Given the description of an element on the screen output the (x, y) to click on. 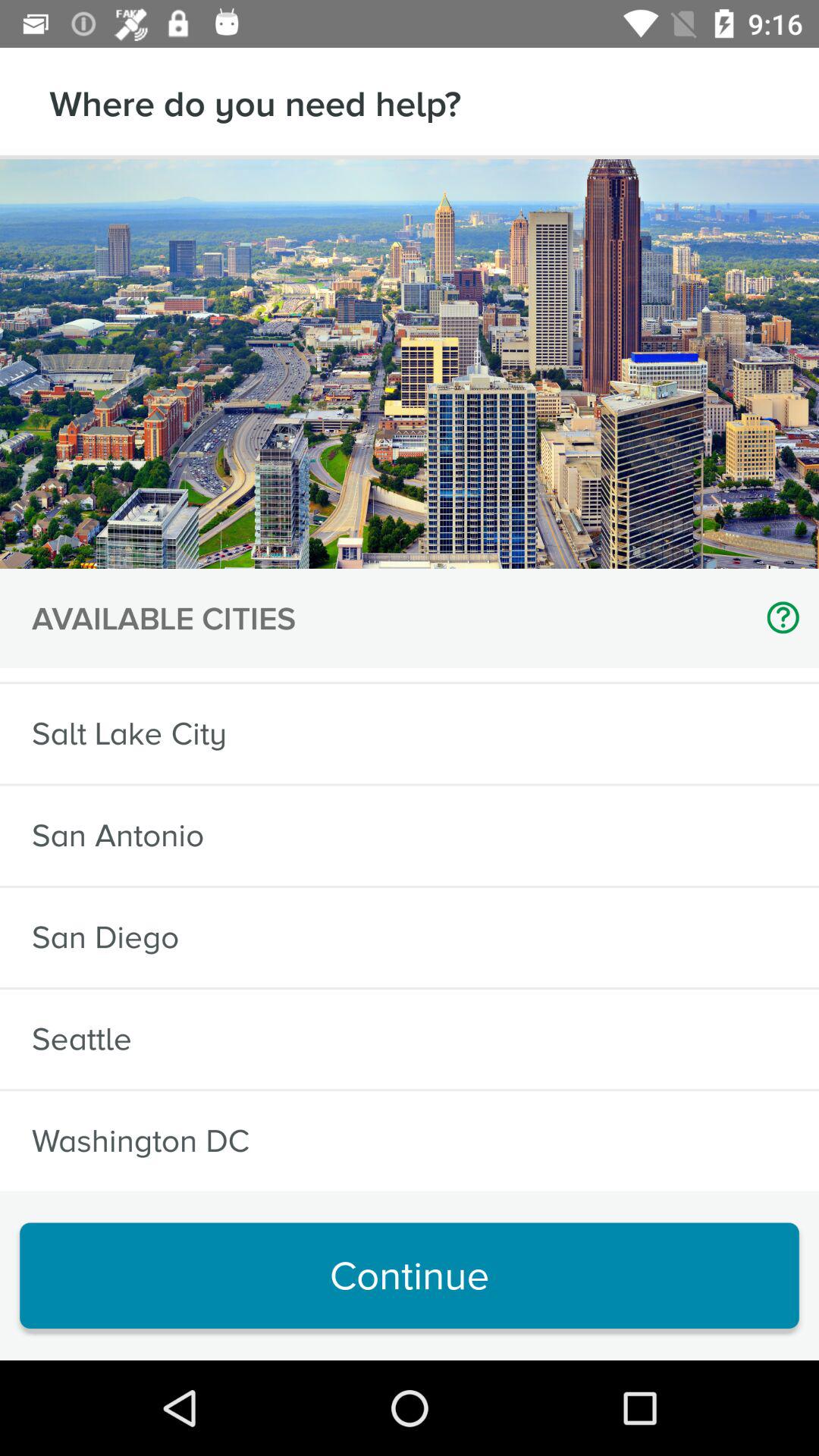
turn on item below sf bay area item (128, 733)
